Given the description of an element on the screen output the (x, y) to click on. 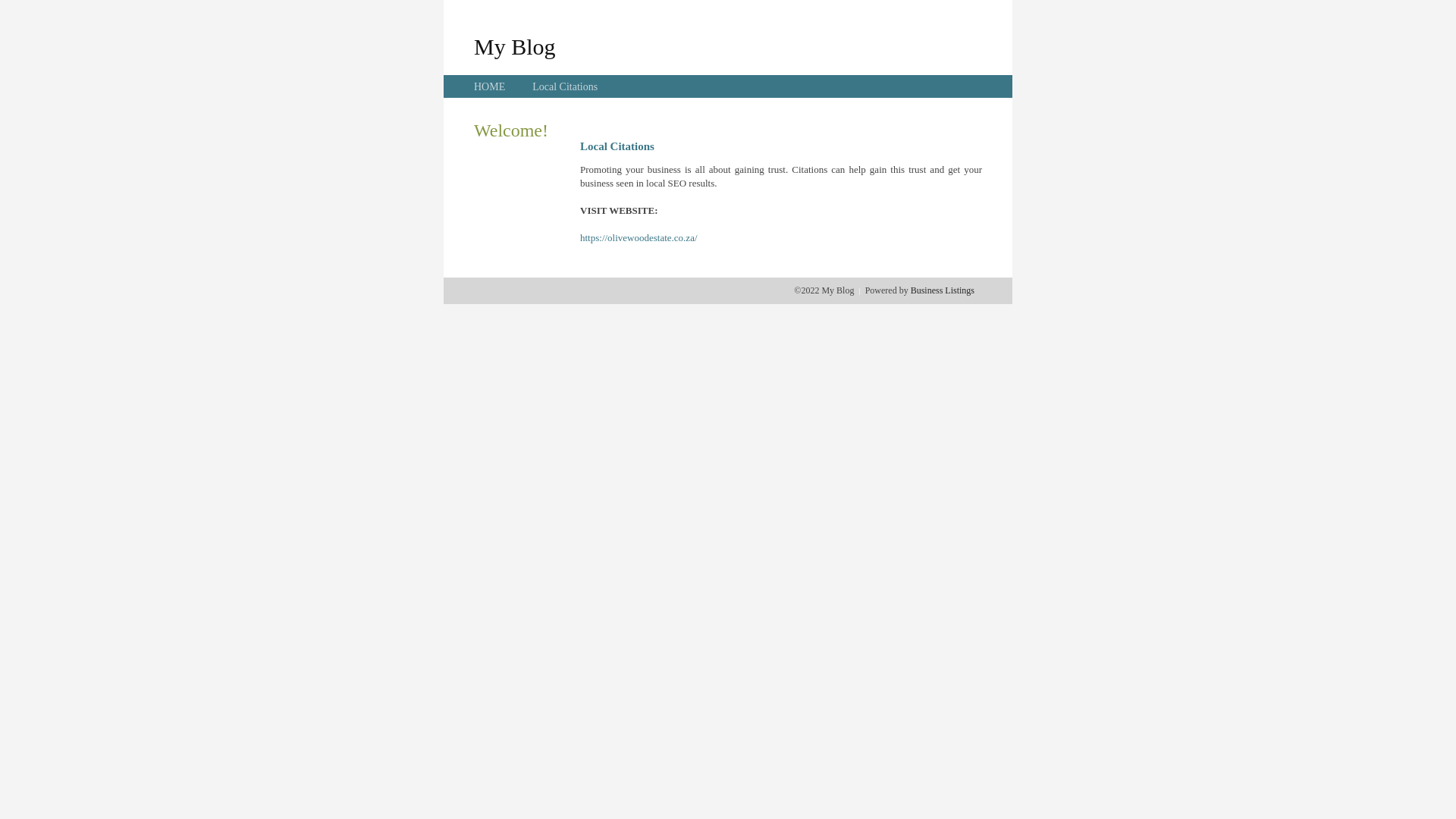
https://olivewoodestate.co.za/ Element type: text (638, 237)
My Blog Element type: text (514, 46)
Business Listings Element type: text (942, 290)
Local Citations Element type: text (564, 86)
HOME Element type: text (489, 86)
